Given the description of an element on the screen output the (x, y) to click on. 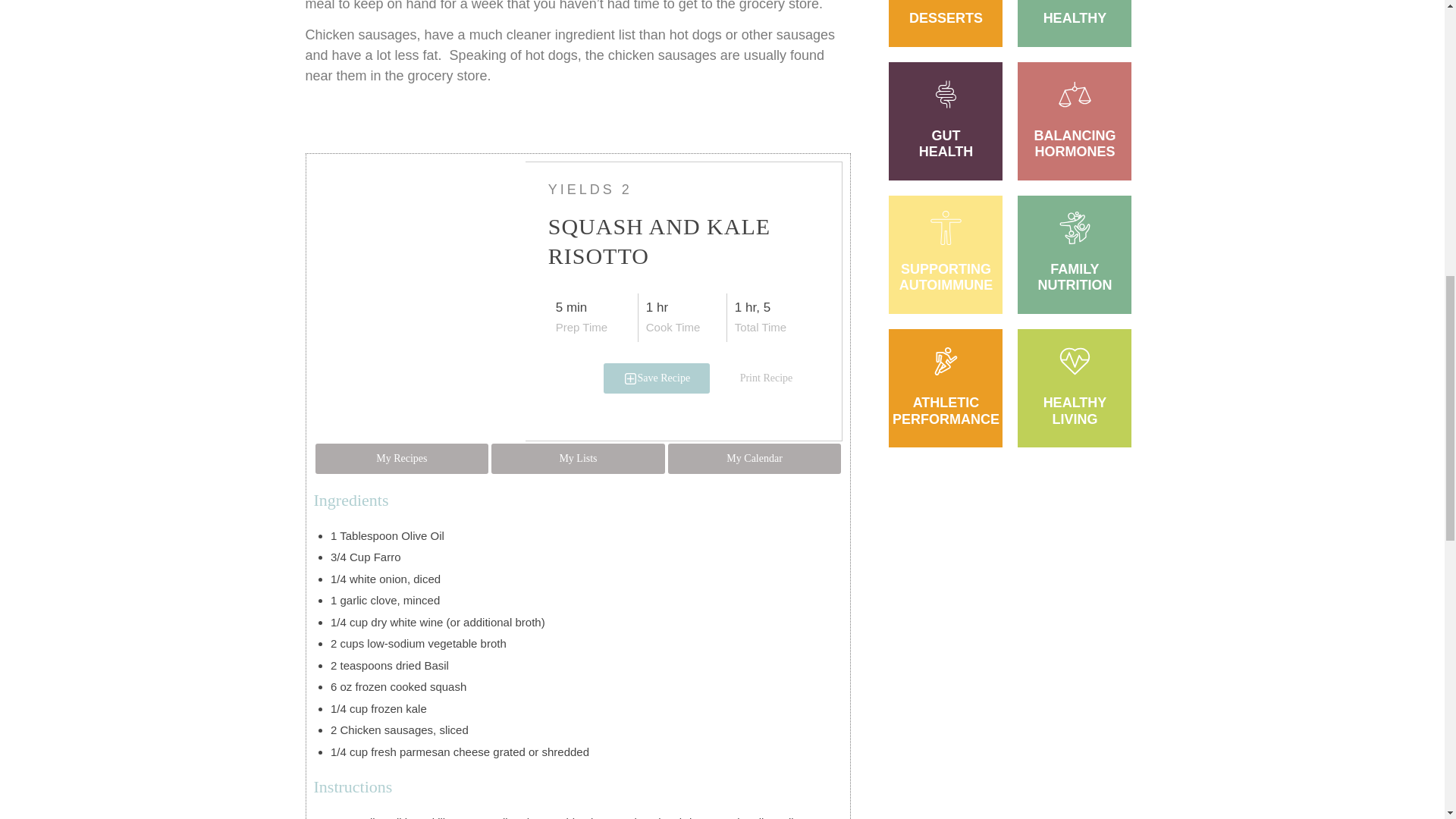
My Recipes (401, 458)
Save Recipe to Mealplannerpro.com (657, 378)
My Calendar (754, 458)
My Lists (577, 458)
Print this recipe (765, 378)
